Given the description of an element on the screen output the (x, y) to click on. 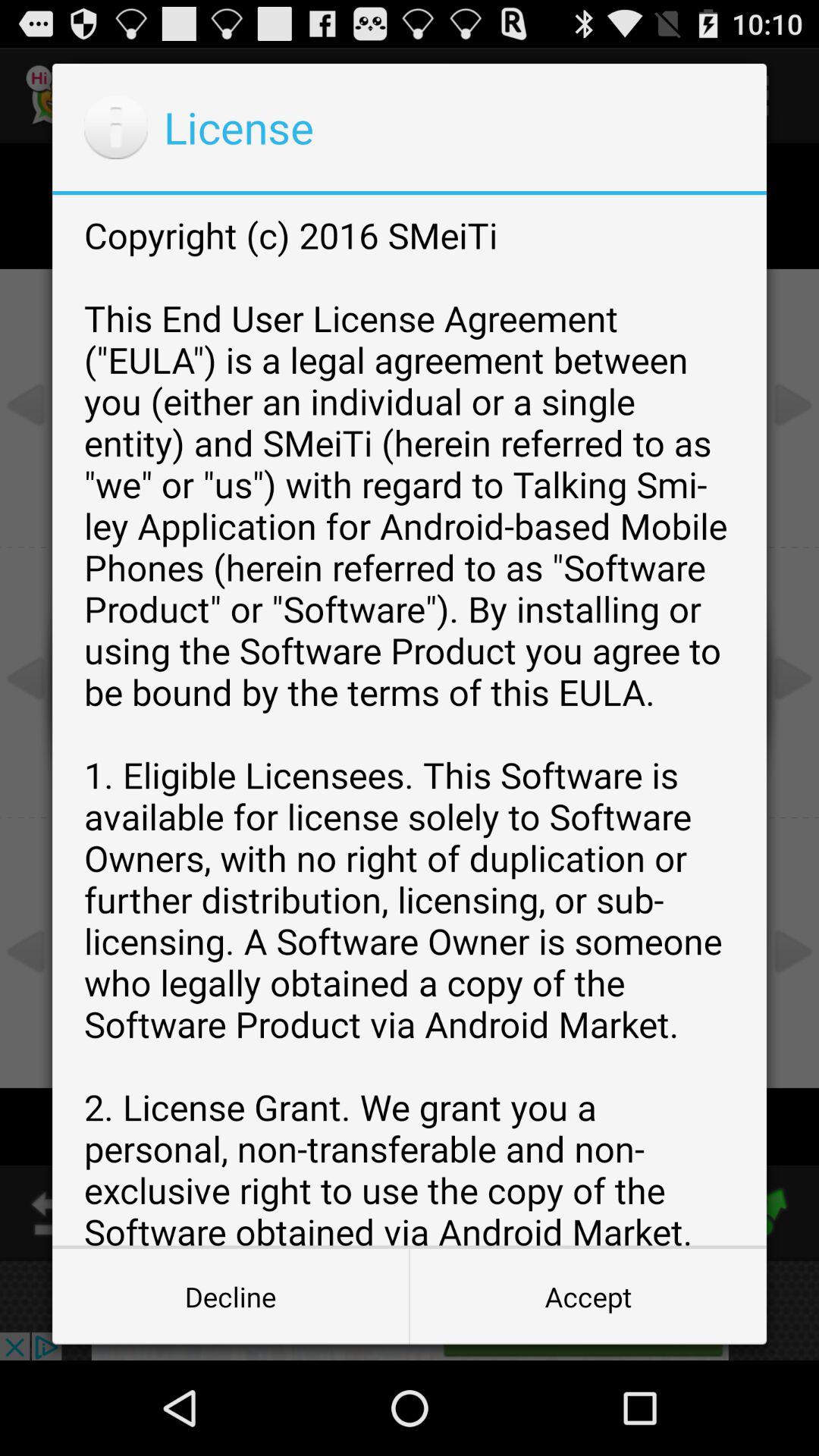
turn on item to the right of decline item (588, 1296)
